Given the description of an element on the screen output the (x, y) to click on. 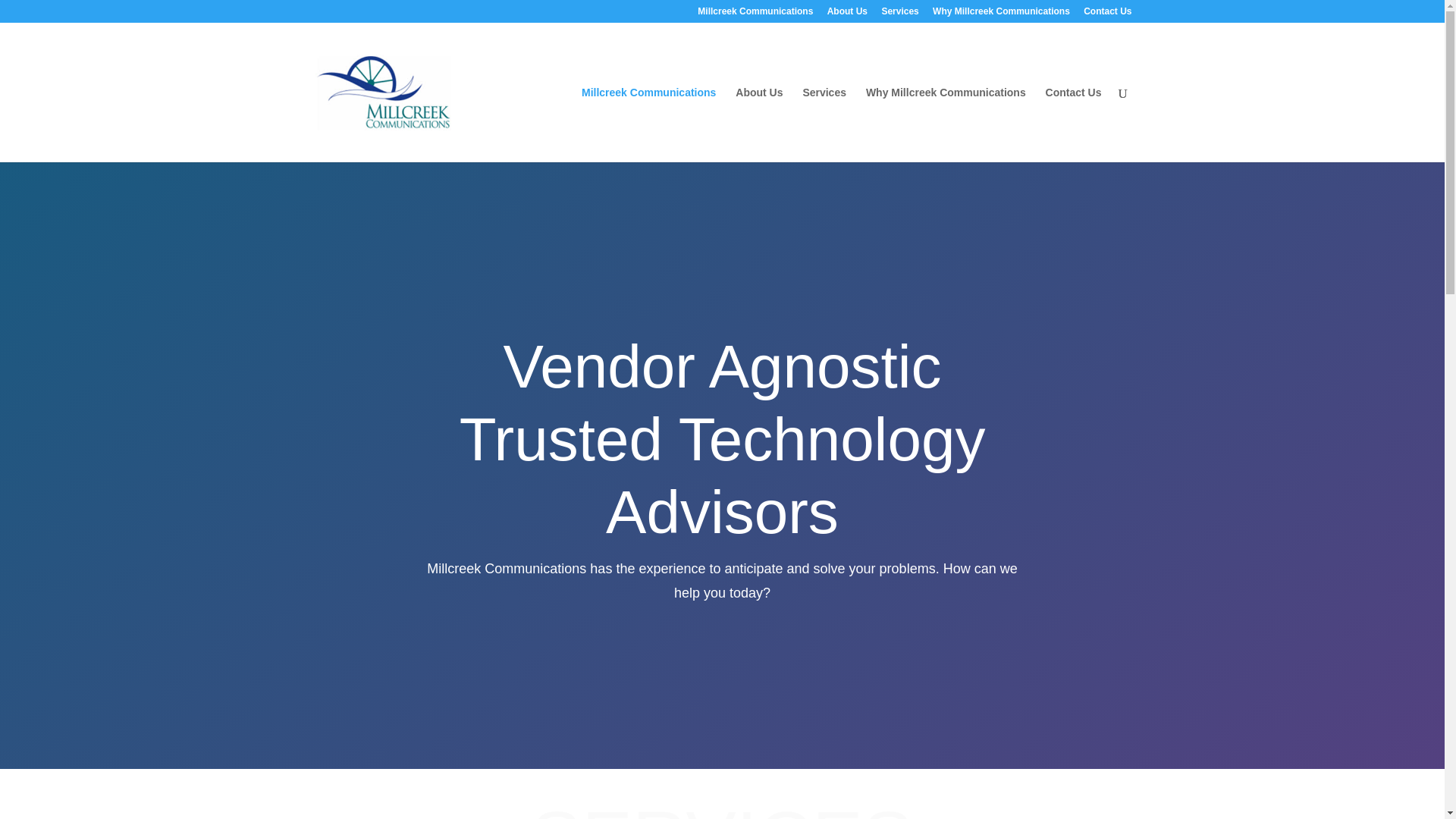
Contact Us (1107, 14)
Why Millcreek Communications (946, 124)
Millcreek Communications (648, 124)
About Us (847, 14)
Millcreek Communications (754, 14)
Why Millcreek Communications (1001, 14)
Services (899, 14)
